Given the description of an element on the screen output the (x, y) to click on. 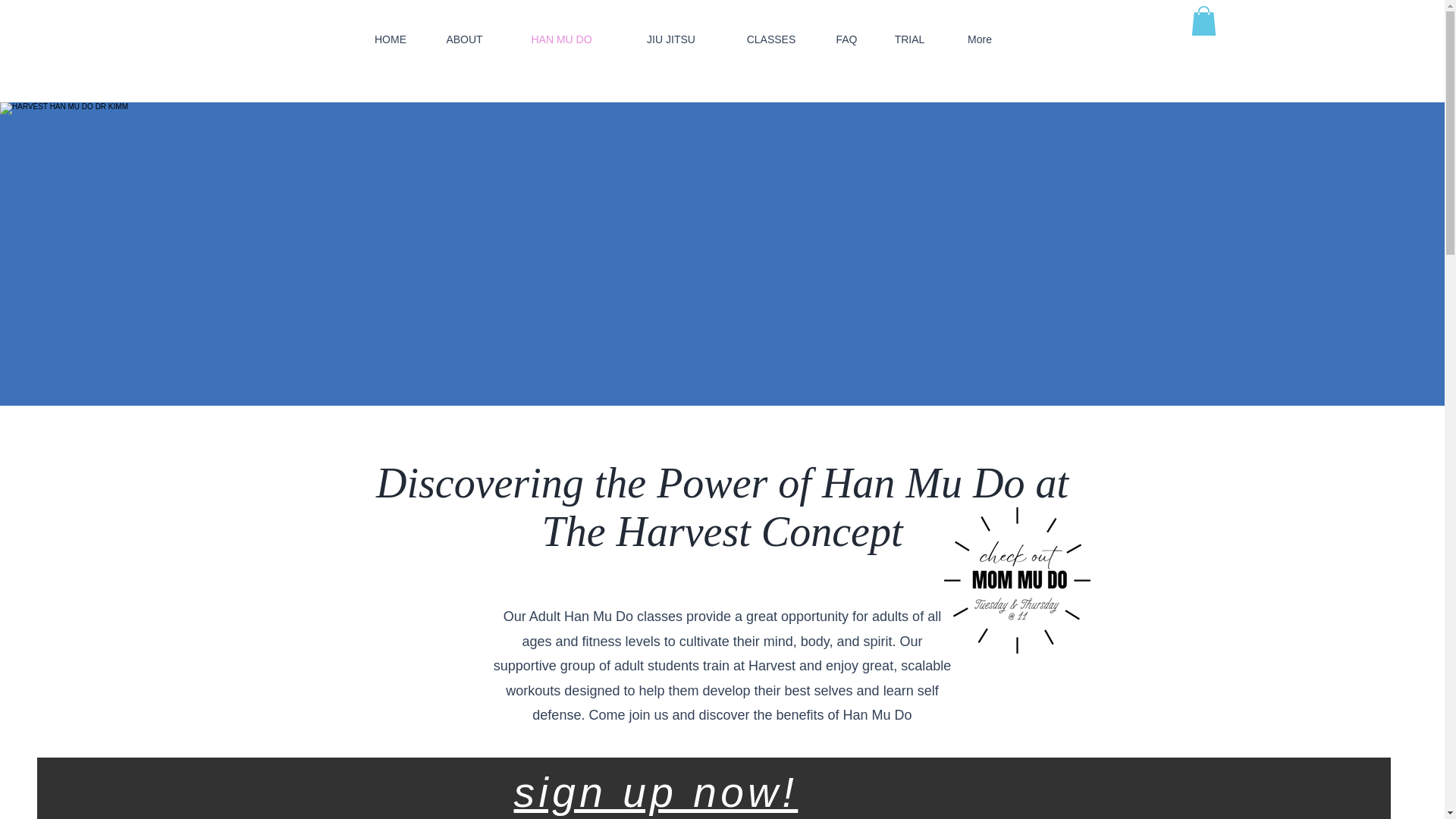
FAQ (845, 39)
HOME (390, 39)
JIU JITSU (670, 39)
ABOUT (464, 39)
sign up now! (655, 792)
HAN MU DO (560, 39)
TRIAL (908, 39)
CLASSES (771, 39)
